Given the description of an element on the screen output the (x, y) to click on. 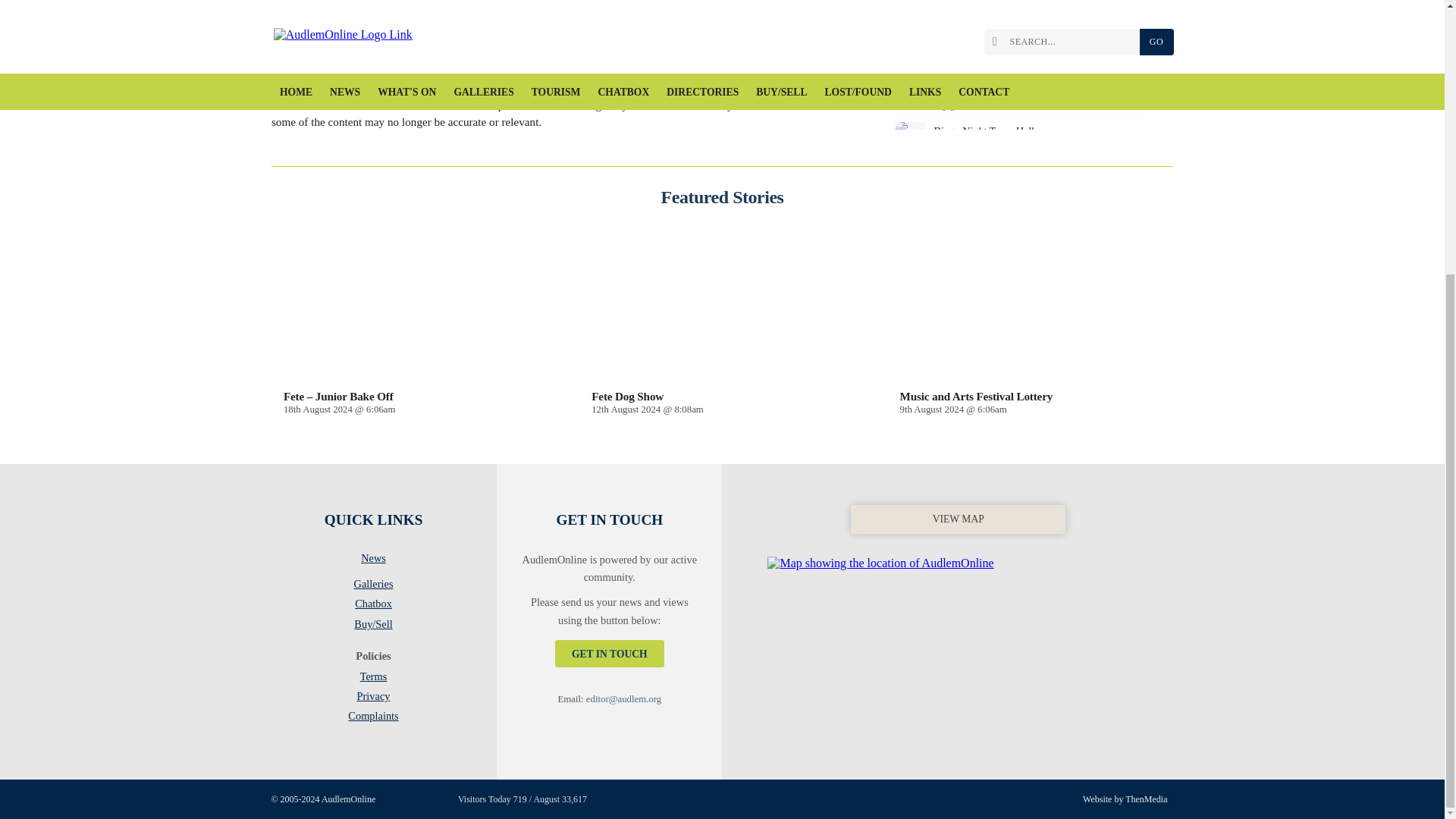
VIEW MAP (957, 560)
Galleries (373, 587)
Chatbox (373, 606)
Featured Stories (722, 197)
Terms (373, 679)
News (373, 560)
Visit our X Feed (434, 797)
GET IN TOUCH (608, 653)
Privacy (373, 699)
